Given the description of an element on the screen output the (x, y) to click on. 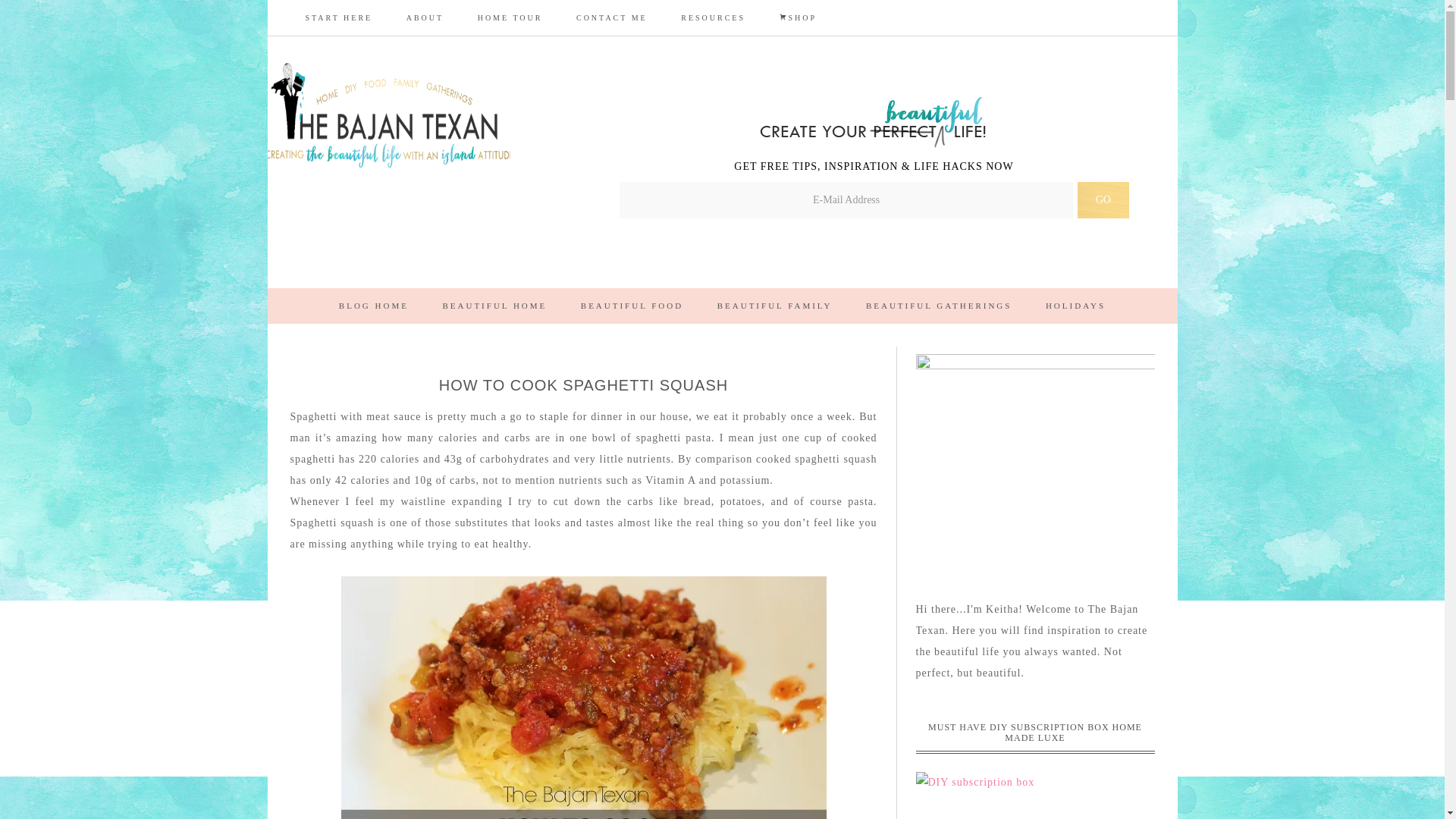
BEAUTIFUL HOME (494, 305)
Go (1103, 199)
SHOP (798, 18)
START HERE (338, 18)
HOME TOUR (510, 18)
RESOURCES (712, 18)
HOLIDAYS (1075, 305)
BEAUTIFUL GATHERINGS (938, 305)
BLOG HOME (373, 305)
